Given the description of an element on the screen output the (x, y) to click on. 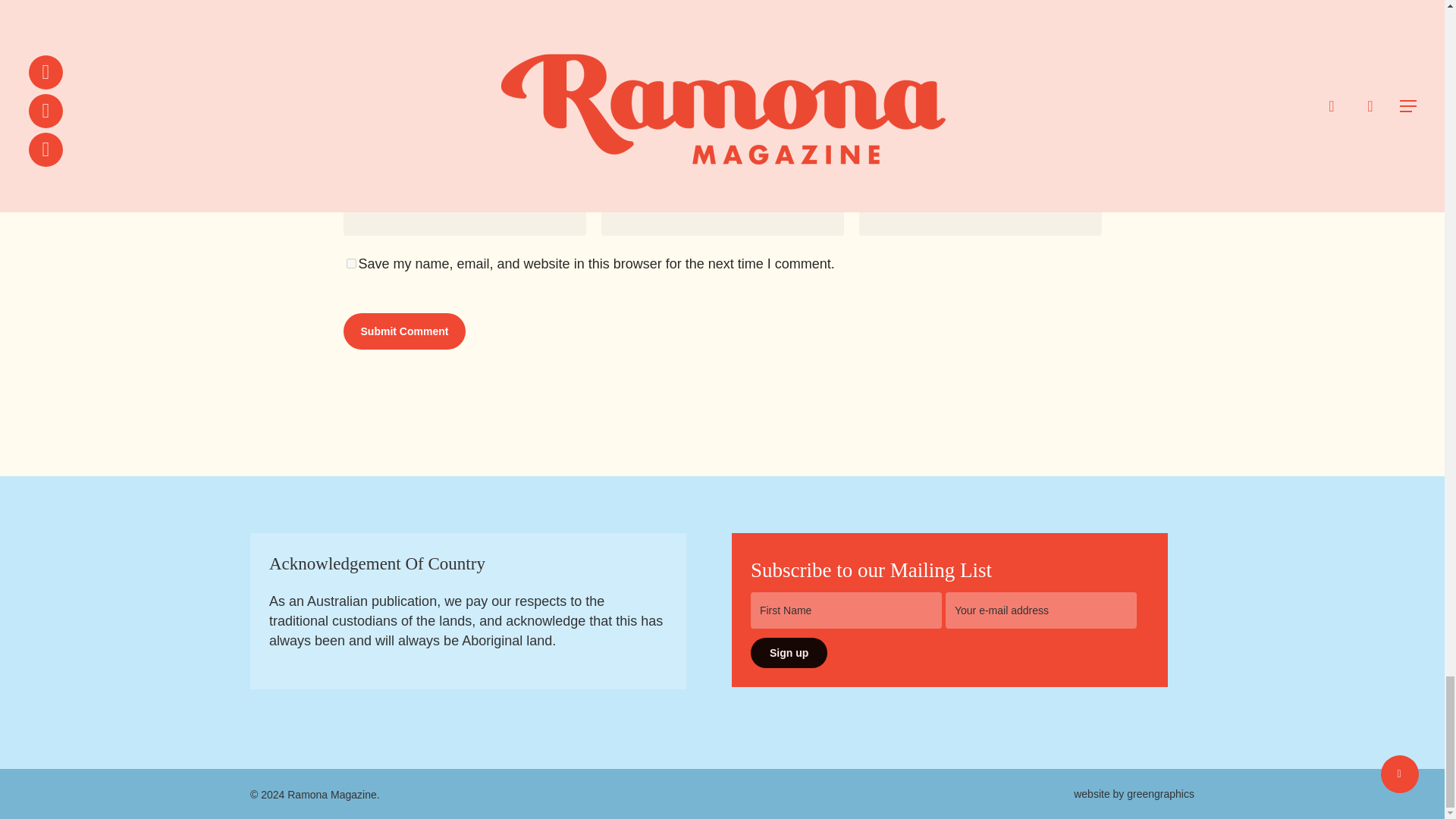
Submit Comment (403, 330)
yes (350, 263)
Sign up (789, 653)
